Given the description of an element on the screen output the (x, y) to click on. 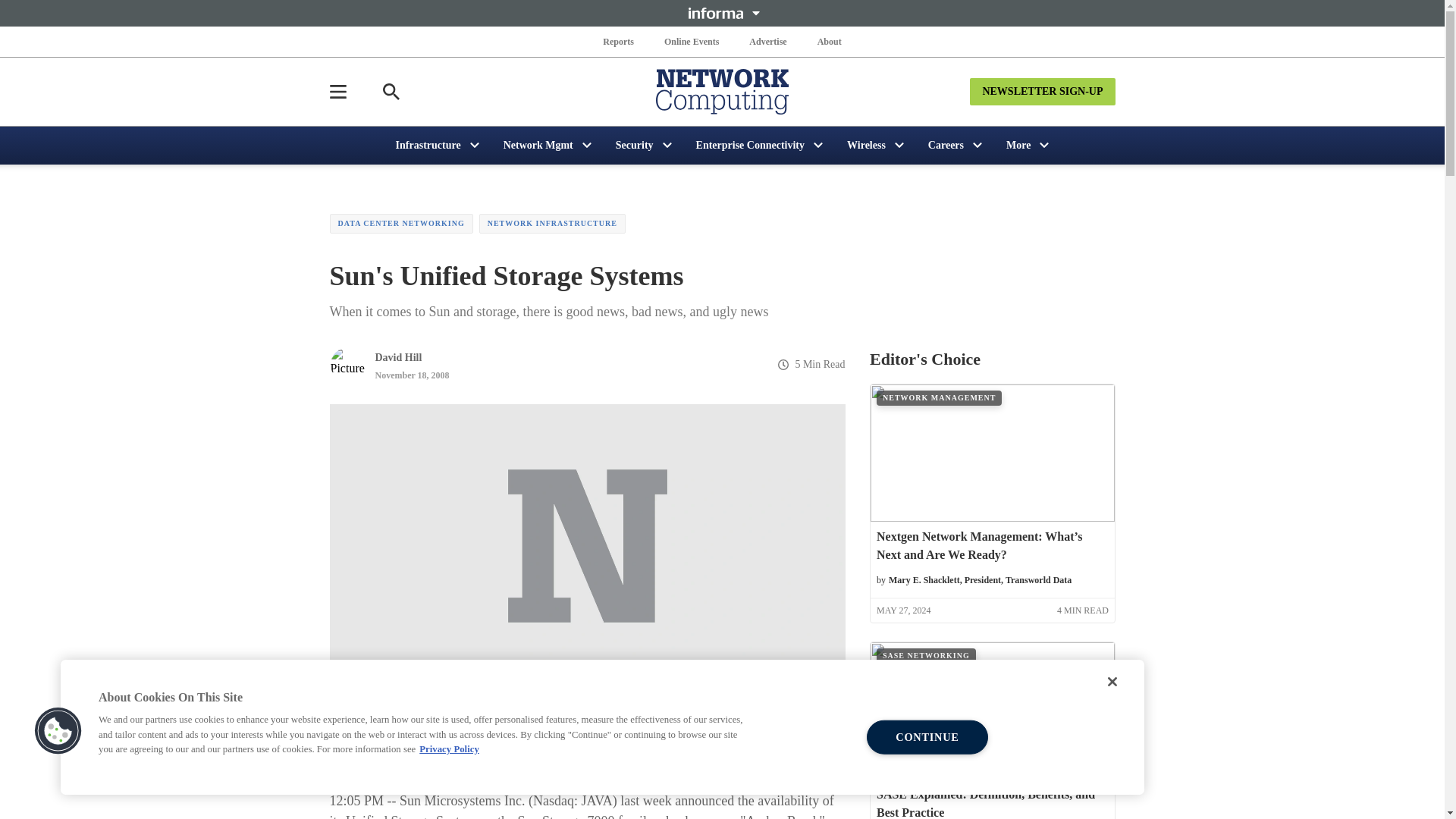
About (828, 41)
Cookies Button (57, 730)
Advertise (767, 41)
Online Events (691, 41)
NEWSLETTER SIGN-UP (1042, 90)
Picture of David Hill (347, 364)
Reports (618, 41)
Network Computing Logo (722, 91)
